Given the description of an element on the screen output the (x, y) to click on. 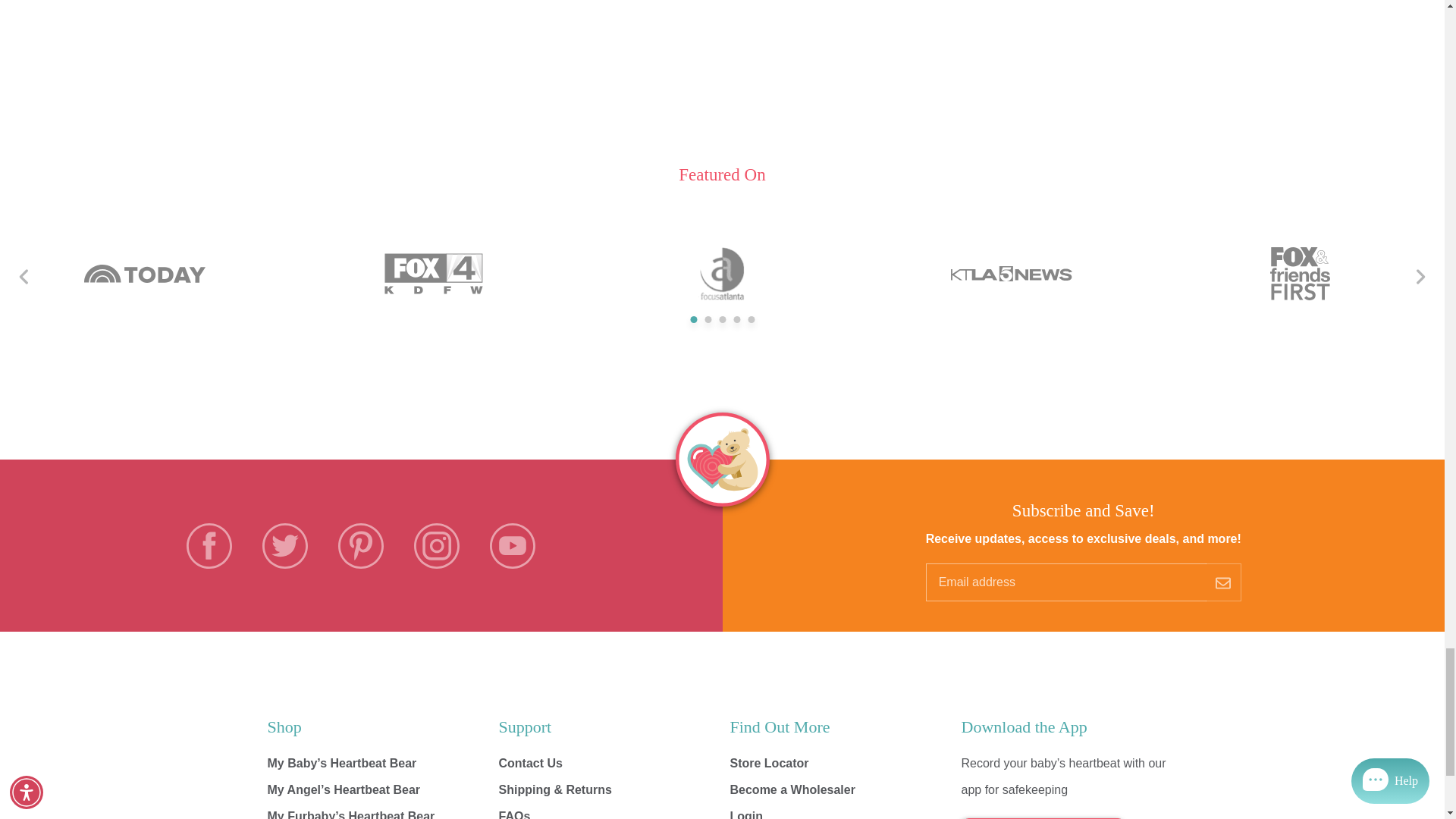
Facebook (209, 545)
Twitter (285, 545)
